Given the description of an element on the screen output the (x, y) to click on. 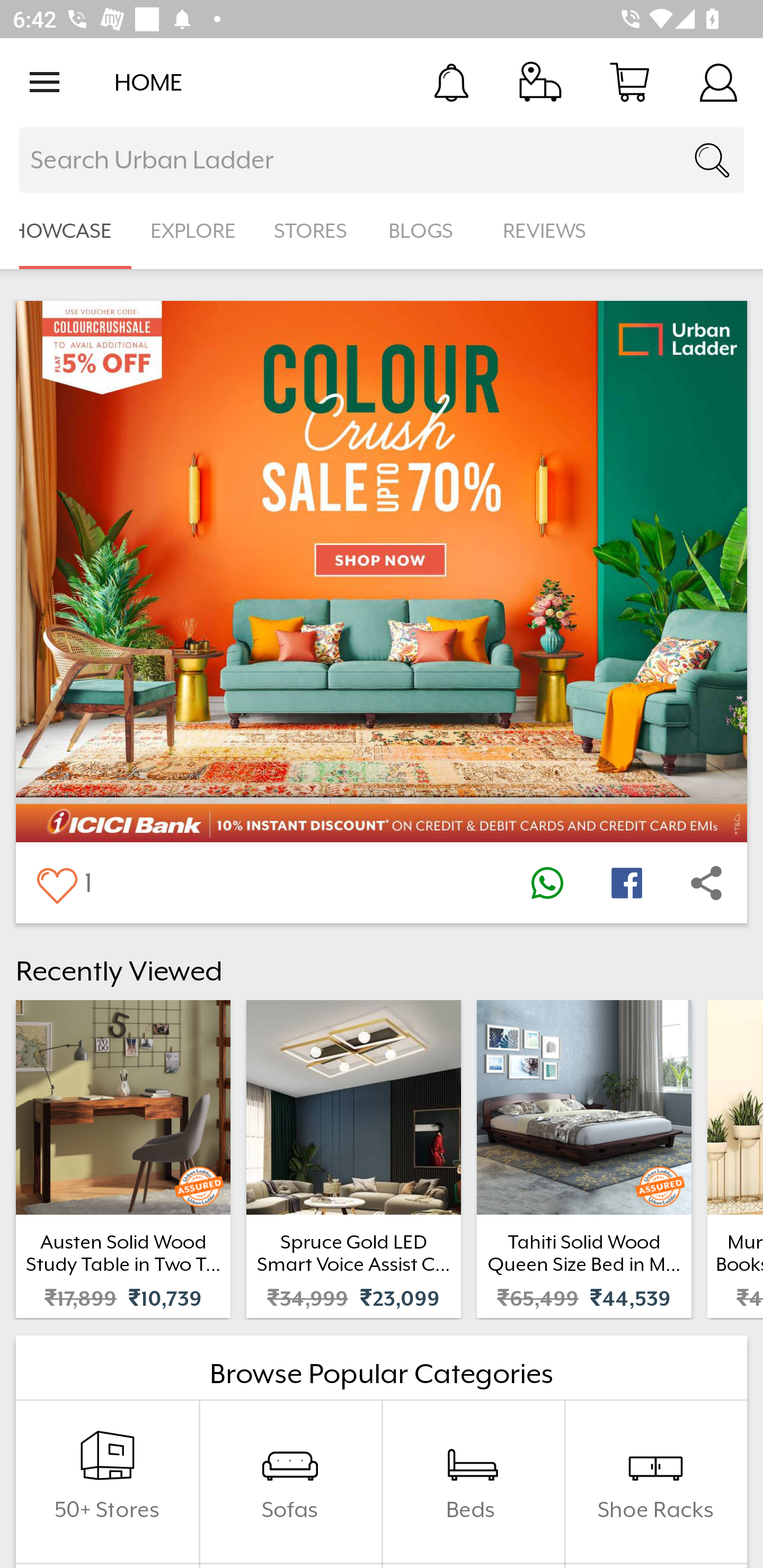
Open navigation drawer (44, 82)
Notification (450, 81)
Track Order (540, 81)
Cart (629, 81)
Account Details (718, 81)
Search Urban Ladder  (381, 159)
SHOWCASE (65, 230)
EXPLORE (192, 230)
STORES (311, 230)
BLOGS (426, 230)
REVIEWS (544, 230)
 (55, 882)
 (547, 882)
 (626, 882)
 (706, 882)
50+ Stores (106, 1481)
Sofas (289, 1481)
Beds  (473, 1481)
Shoe Racks (655, 1481)
